Given the description of an element on the screen output the (x, y) to click on. 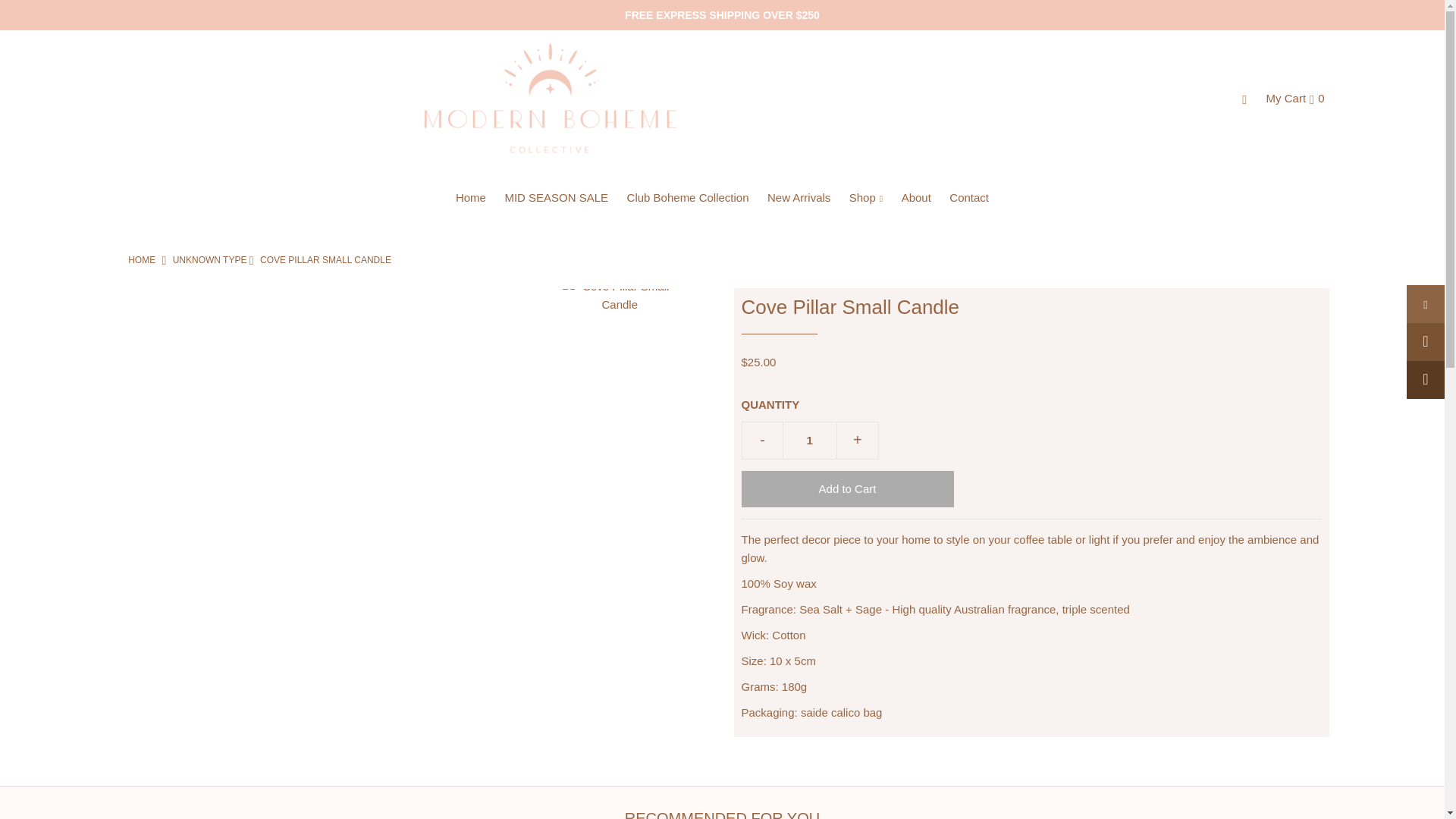
Home (470, 196)
1 (810, 440)
Home (141, 259)
Add to Cart (847, 488)
